Given the description of an element on the screen output the (x, y) to click on. 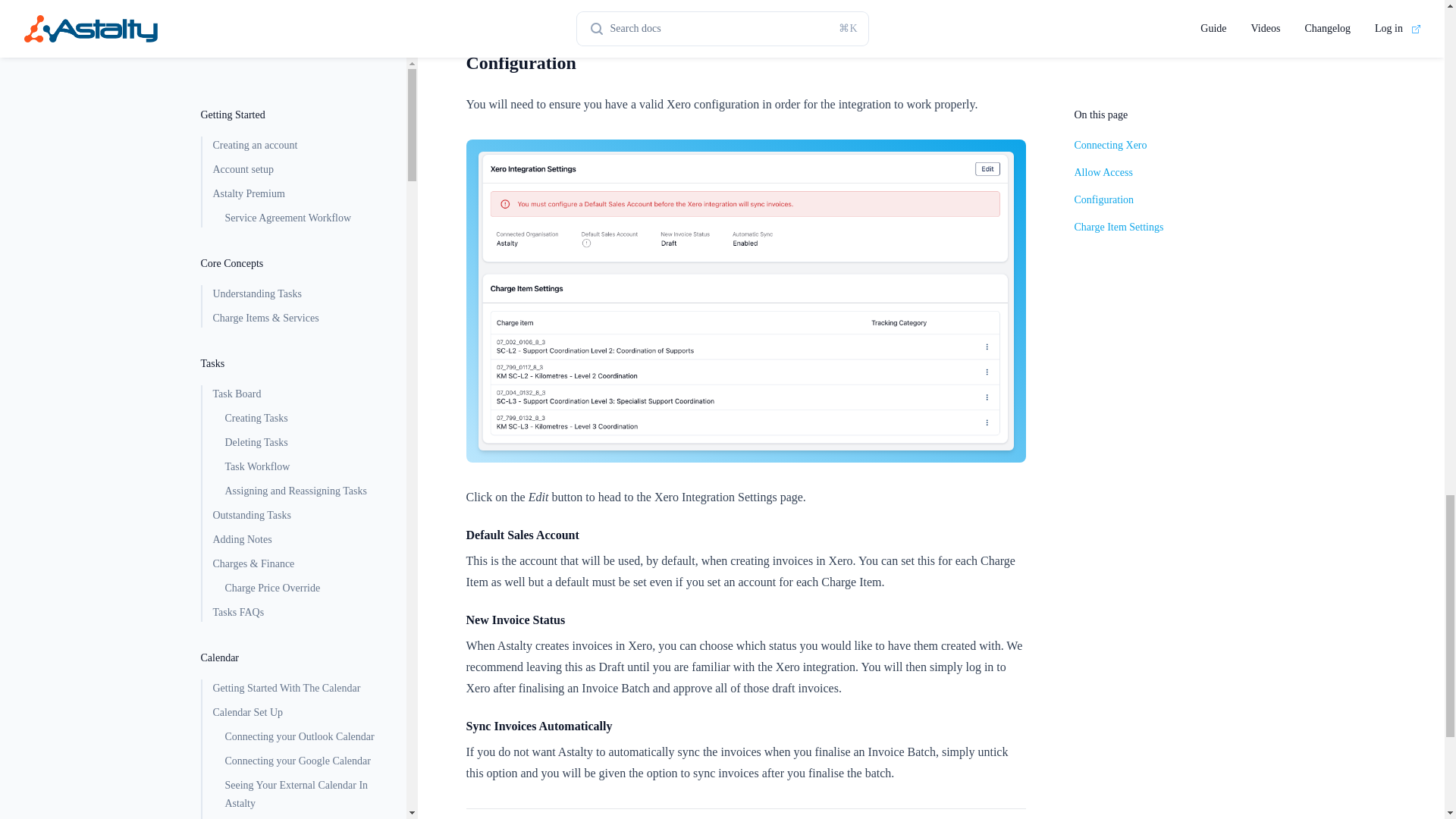
Finance (297, 443)
Utilisation (303, 176)
Participant Goal Report (303, 297)
Plans (303, 199)
My Billables Report (303, 393)
Requesting Signatures (297, 75)
Organisations (297, 639)
Overview (297, 591)
Team Billable Hours (303, 370)
